Given the description of an element on the screen output the (x, y) to click on. 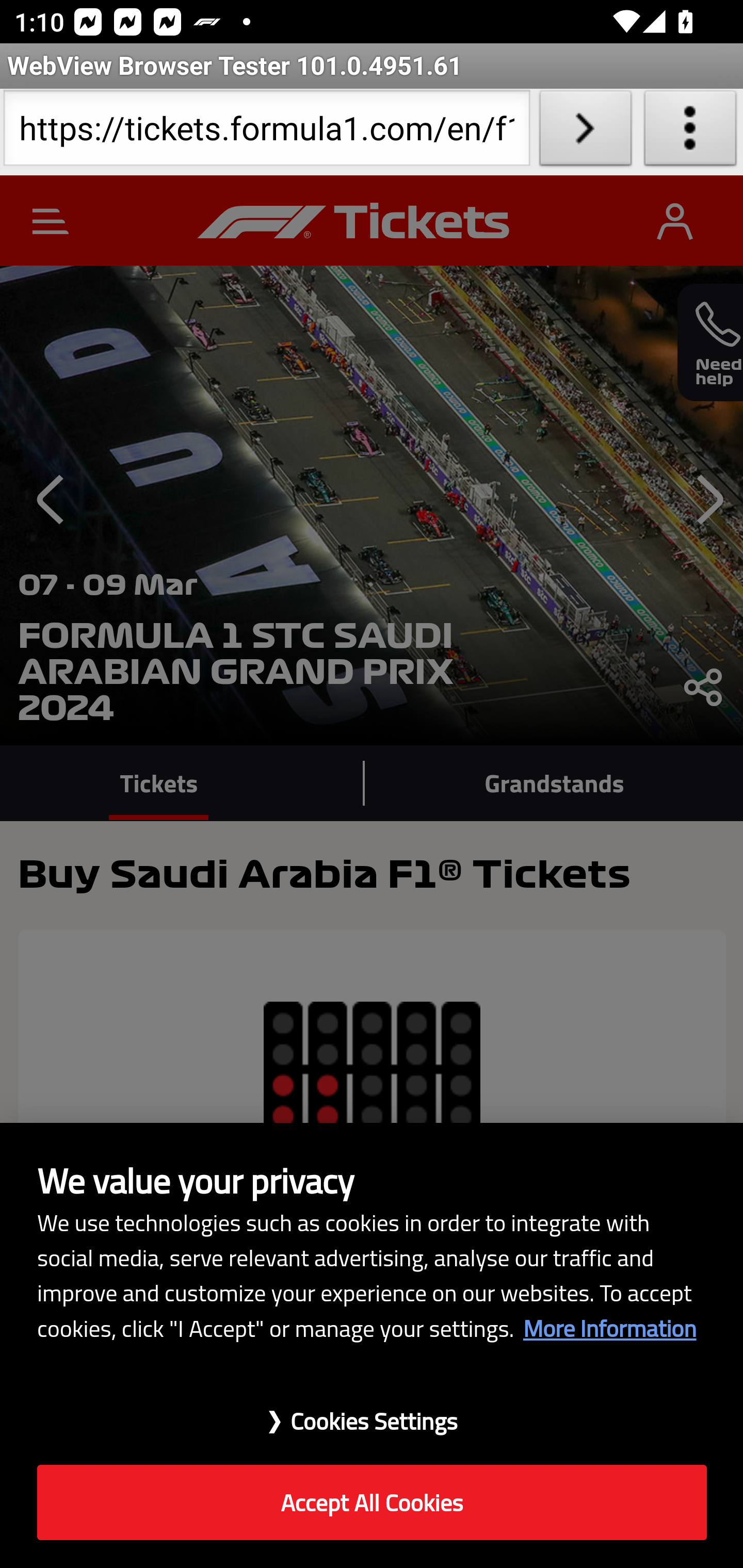
Load URL (585, 132)
About WebView (690, 132)
More Information (608, 1327)
❯Cookies Settings (372, 1411)
Accept All Cookies (372, 1502)
